Given the description of an element on the screen output the (x, y) to click on. 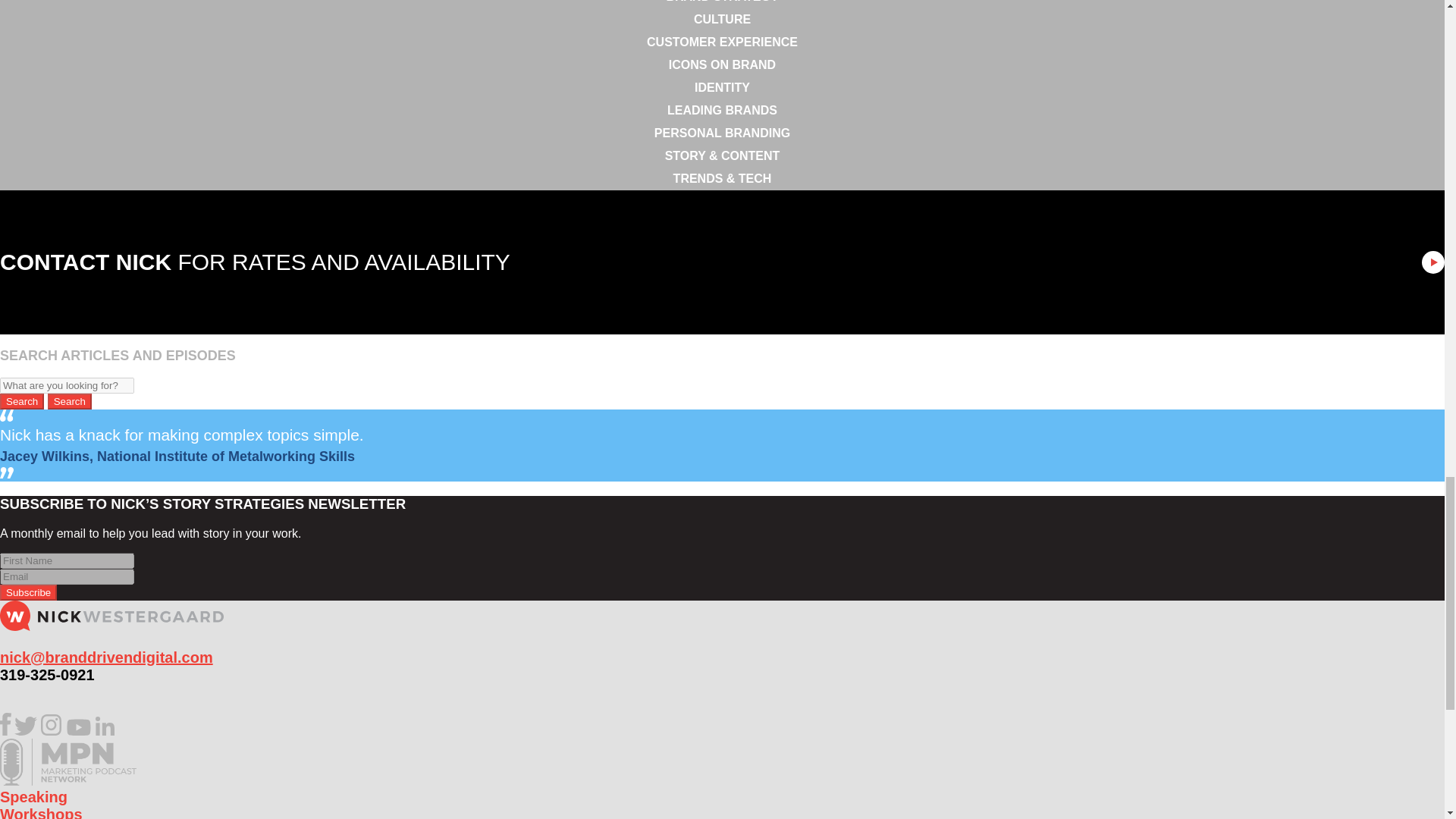
Nick Westergaard on YouTube (79, 730)
Search (69, 401)
Search (21, 401)
Nick Westergaard on MPN (68, 780)
Nick Westergaard on Instagram (51, 730)
Nick Westergaard on LinkedIn (105, 730)
Nick Westergaard on Twitter (25, 730)
Subscribe (28, 592)
